Given the description of an element on the screen output the (x, y) to click on. 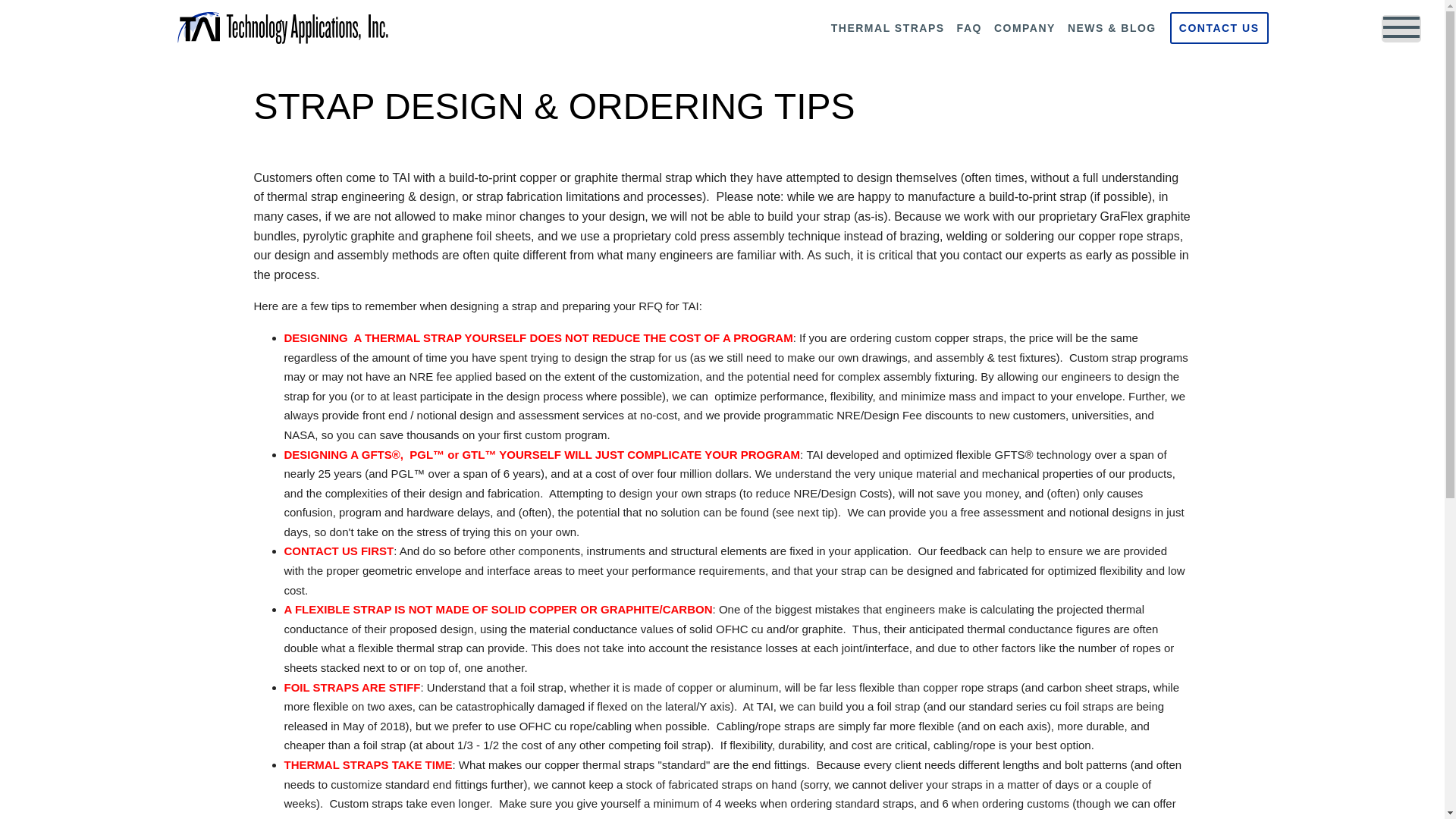
CONTACT US (1219, 28)
TOGGLE MOBILE MENU (1401, 28)
THERMAL STRAPS (887, 27)
Technology Applications, Inc. (282, 28)
Technology Applications, Inc. (282, 26)
FAQ (969, 27)
COMPANY (1024, 27)
